Given the description of an element on the screen output the (x, y) to click on. 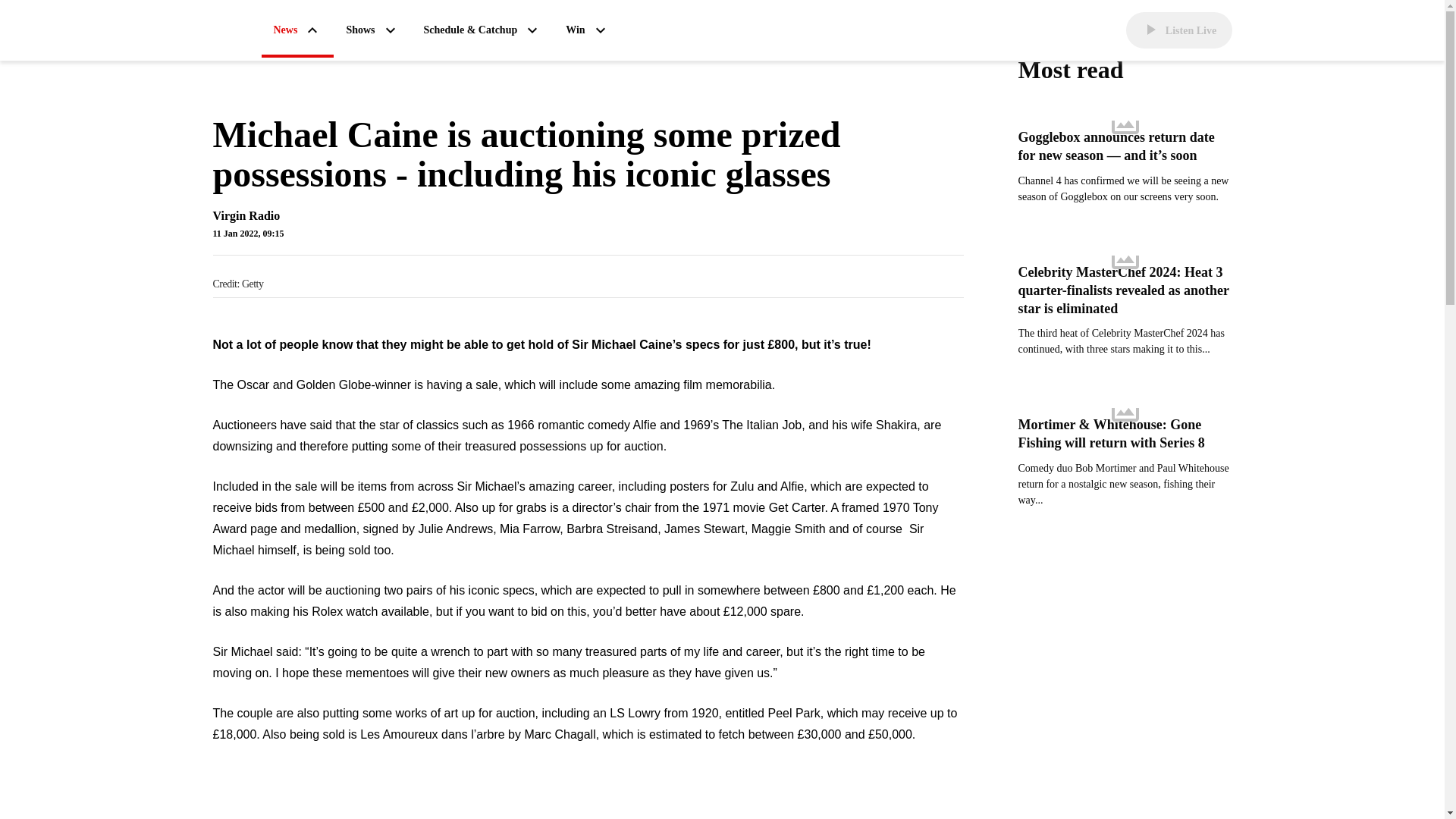
Listen Live (1178, 30)
Win (587, 29)
Win (587, 29)
News (296, 31)
News (296, 31)
Shows (371, 29)
Shows (371, 29)
Listen Live (1178, 30)
